Given the description of an element on the screen output the (x, y) to click on. 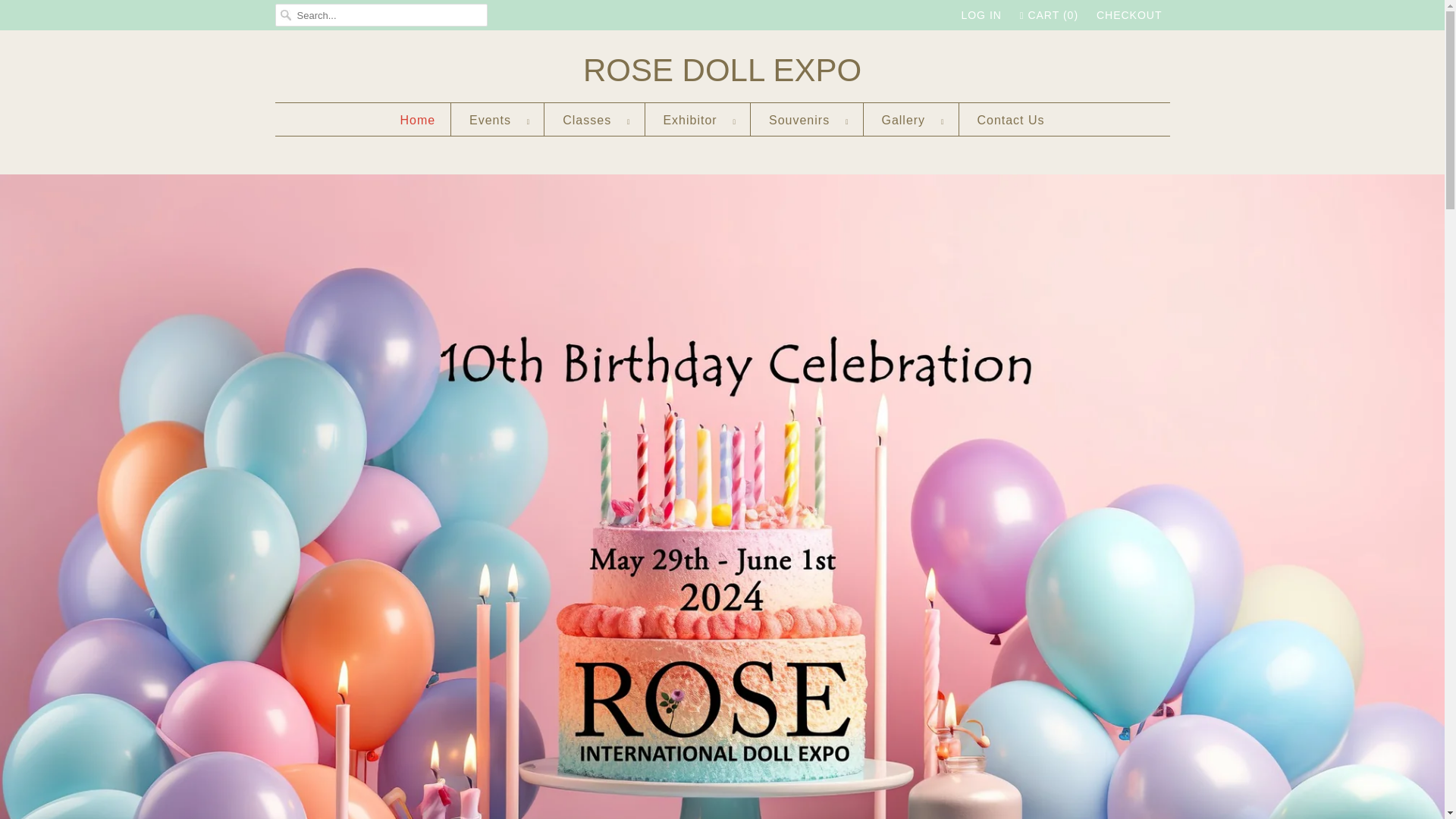
LOG IN (980, 15)
Rose Doll Expo (722, 69)
CHECKOUT (1128, 15)
ROSE DOLL EXPO (722, 69)
